Given the description of an element on the screen output the (x, y) to click on. 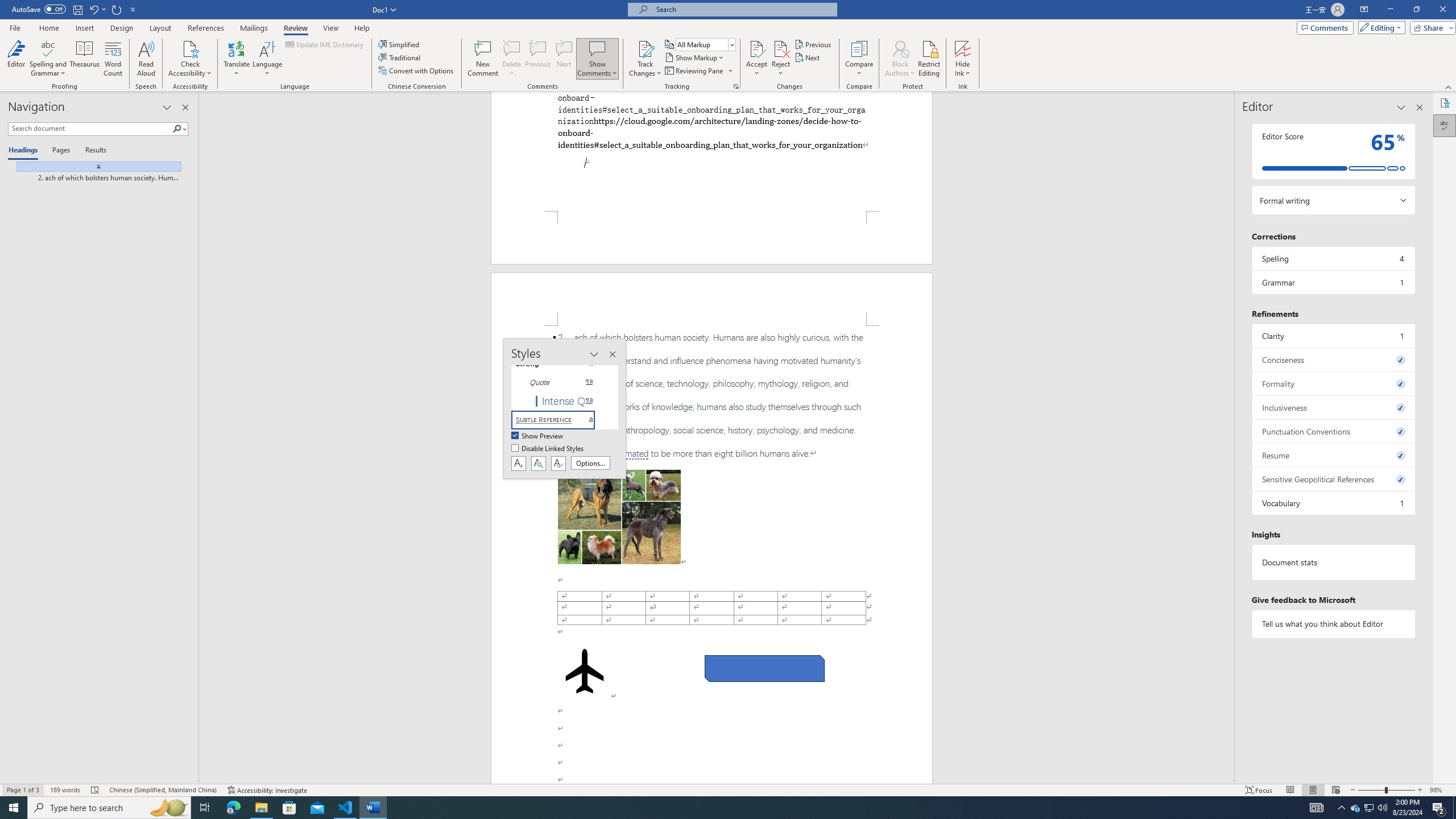
Tell us what you think about Editor (1333, 624)
Language (267, 58)
Resume, 0 issues. Press space or enter to review items. (1333, 454)
Traditional (400, 56)
Rectangle: Diagonal Corners Snipped 2 (764, 668)
Intense Quote (559, 400)
Options... (590, 463)
Formality, 0 issues. Press space or enter to review items. (1333, 383)
Class: NetUIButton (558, 463)
Compare (859, 58)
Search document (89, 128)
Hide Ink (962, 48)
